Given the description of an element on the screen output the (x, y) to click on. 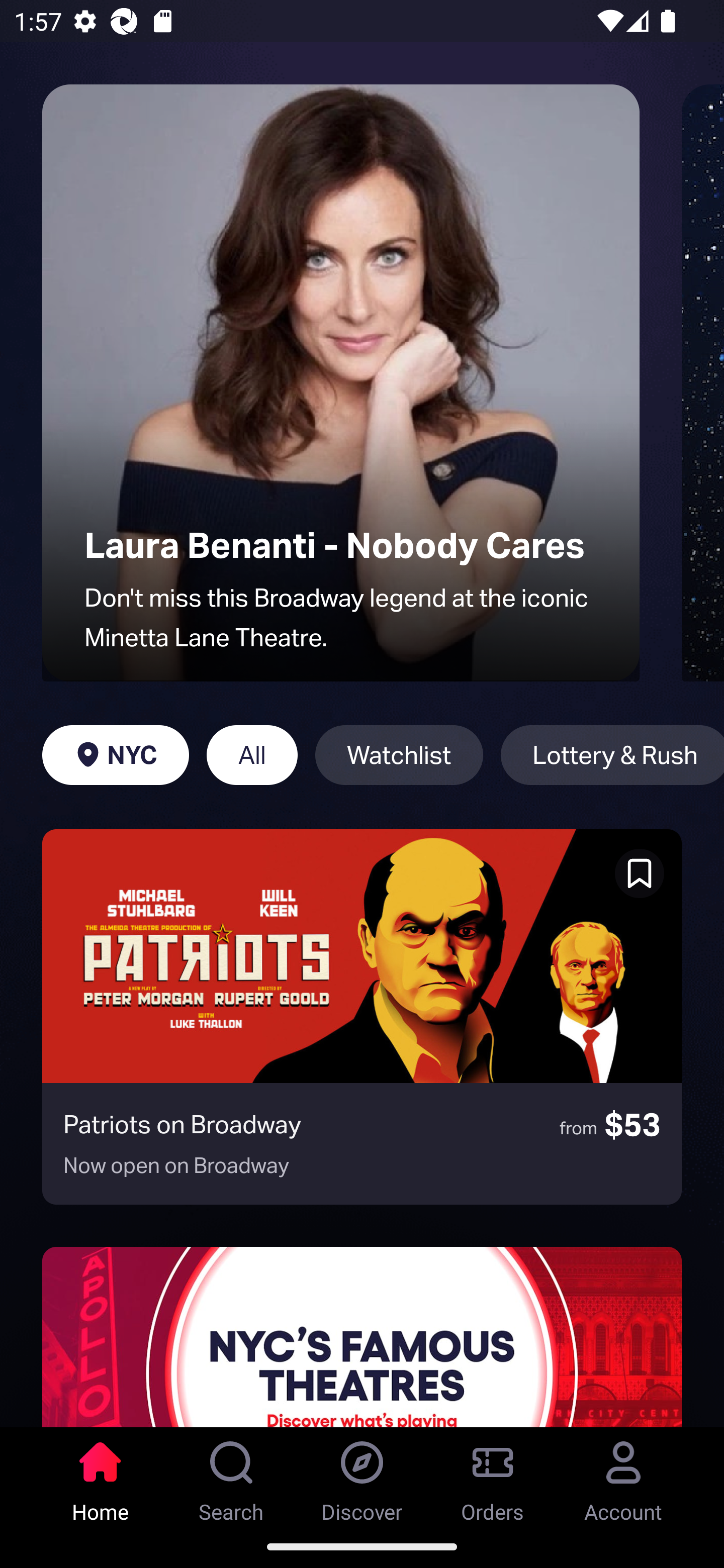
NYC (114, 754)
All (251, 754)
Watchlist (398, 754)
Lottery & Rush (612, 754)
Patriots on Broadway from $53 Now open on Broadway (361, 1016)
Search (230, 1475)
Discover (361, 1475)
Orders (492, 1475)
Account (623, 1475)
